Given the description of an element on the screen output the (x, y) to click on. 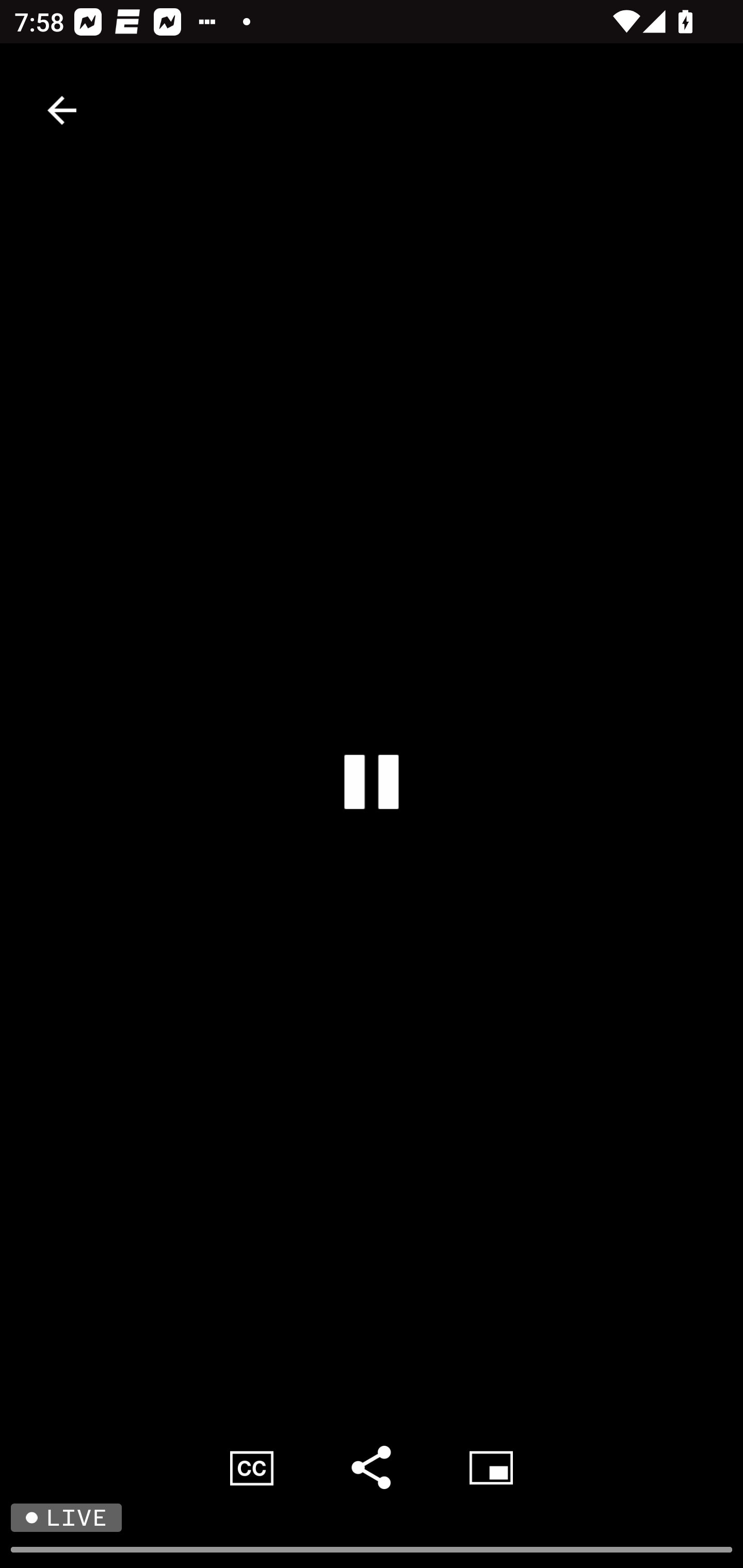
Back (61, 110)
Pause (371, 781)
Closed Captions, ON (251, 1467)
Share Media (371, 1467)
Picture in Picture Media (490, 1467)
